Given the description of an element on the screen output the (x, y) to click on. 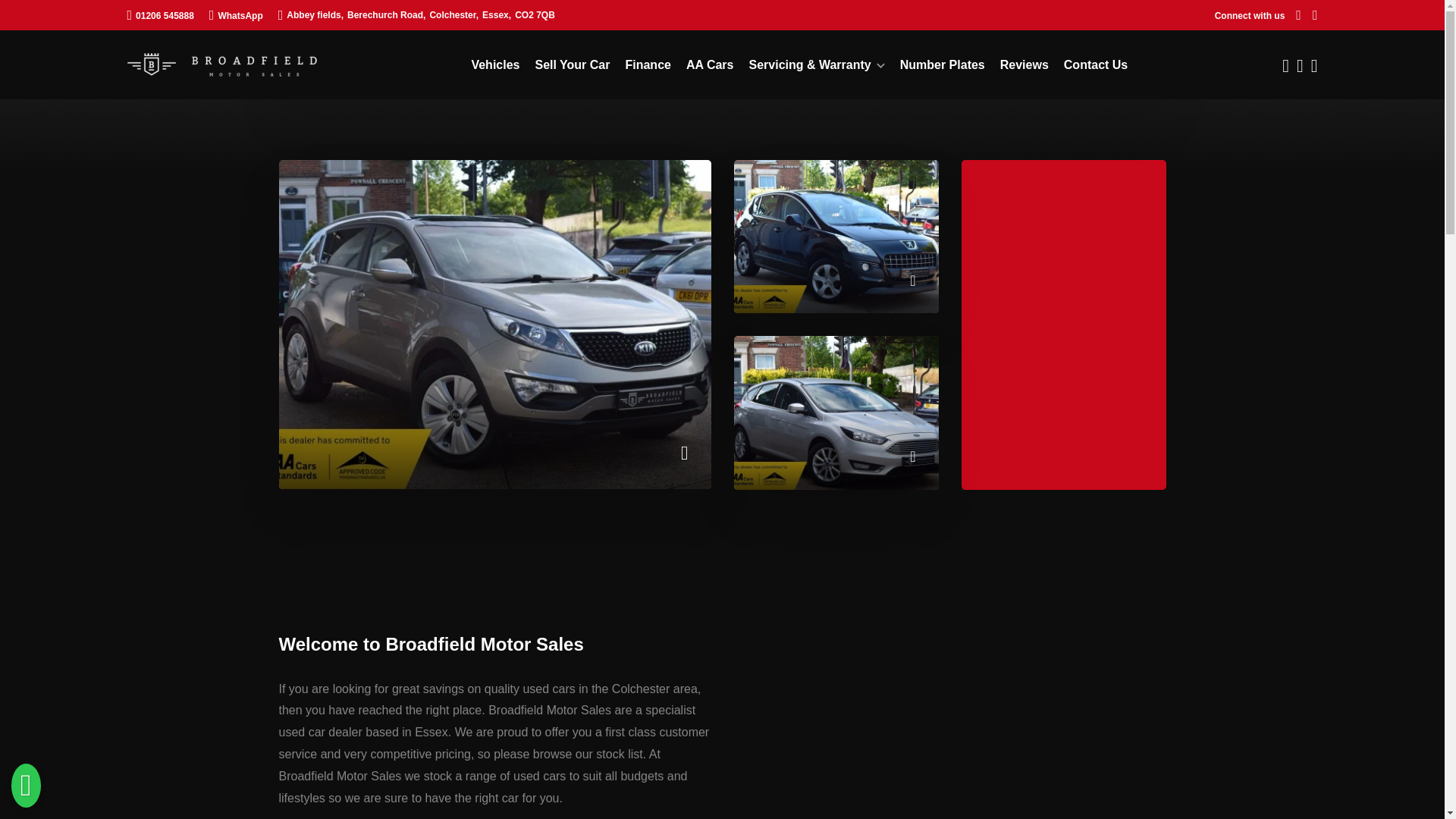
Number Plates (942, 64)
AA Cars (709, 64)
WhatsApp (236, 14)
Sell Your Car (572, 64)
Vehicles (494, 64)
Reviews (1024, 64)
01206 545888 (160, 14)
Contact Us (1095, 64)
Finance (646, 64)
